Given the description of an element on the screen output the (x, y) to click on. 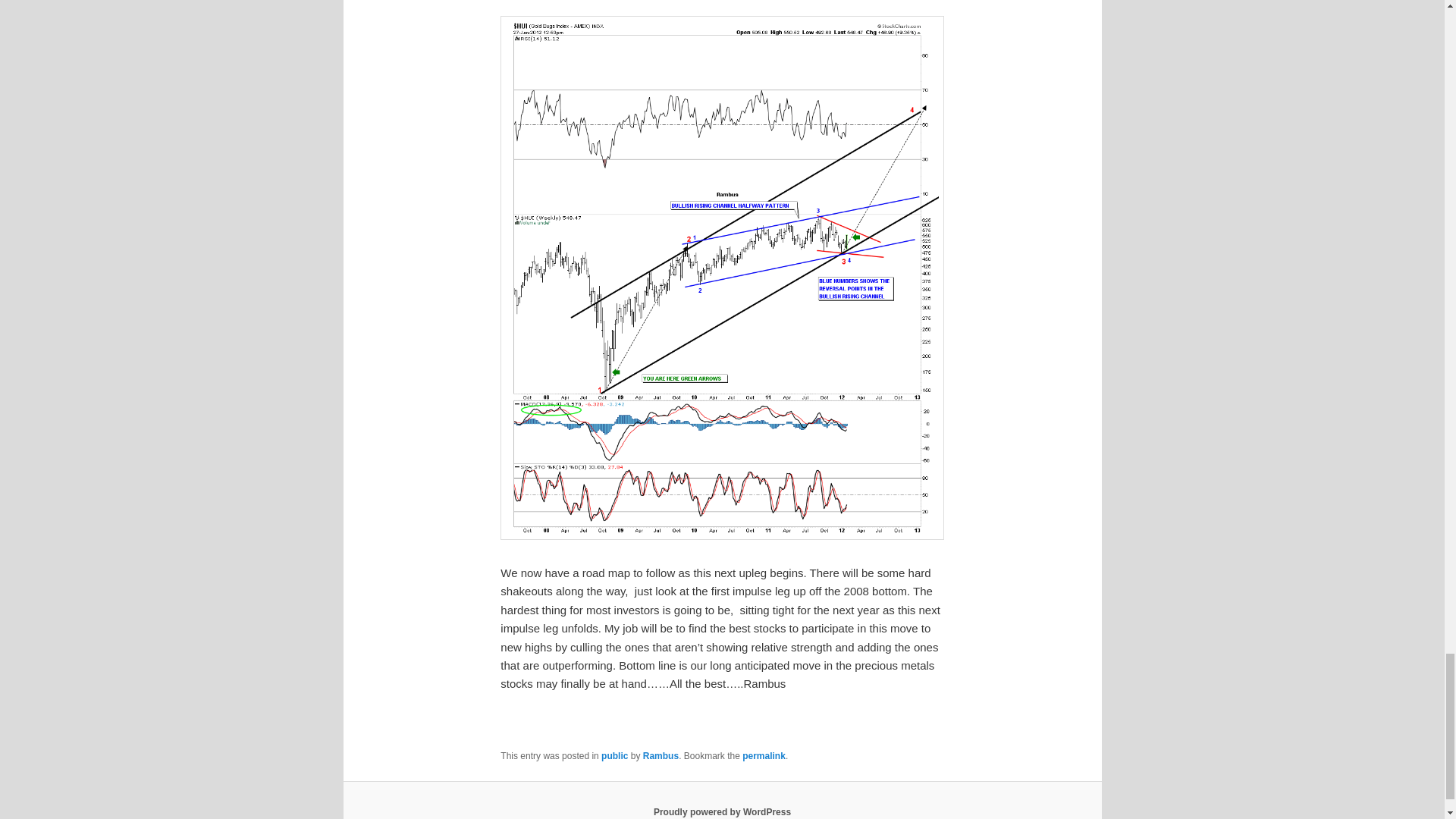
Rambus (660, 756)
Semantic Personal Publishing Platform (721, 811)
Permalink to HUI Special Update (764, 756)
public (614, 756)
permalink (764, 756)
Proudly powered by WordPress (721, 811)
